Given the description of an element on the screen output the (x, y) to click on. 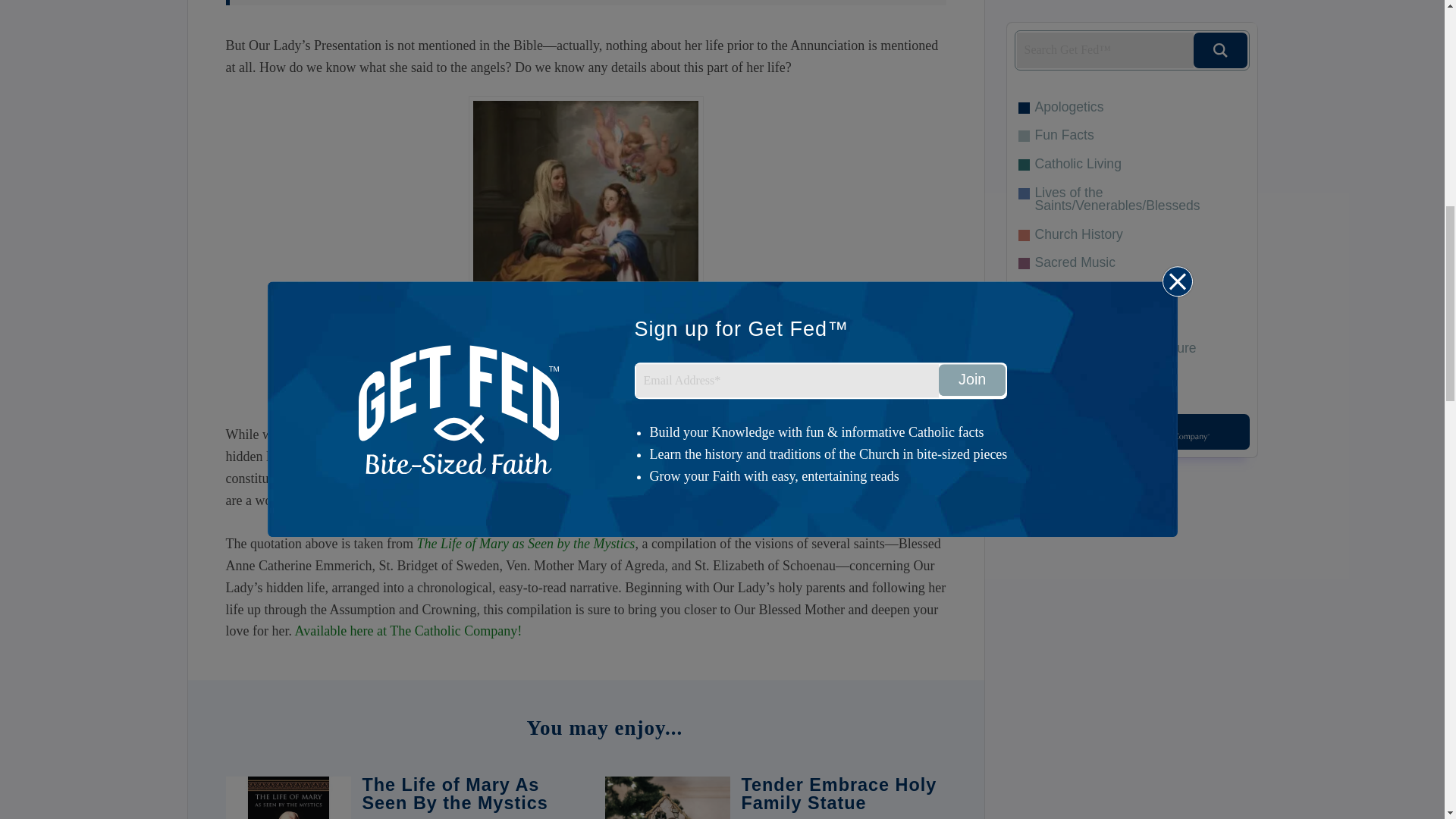
Rating of this product is 0 out of 5. (843, 815)
Rating of this product is 0 out of 5. (464, 815)
The Life of Mary as Seen by the Mystics (525, 543)
Available here at The Catholic Company! (407, 630)
